Given the description of an element on the screen output the (x, y) to click on. 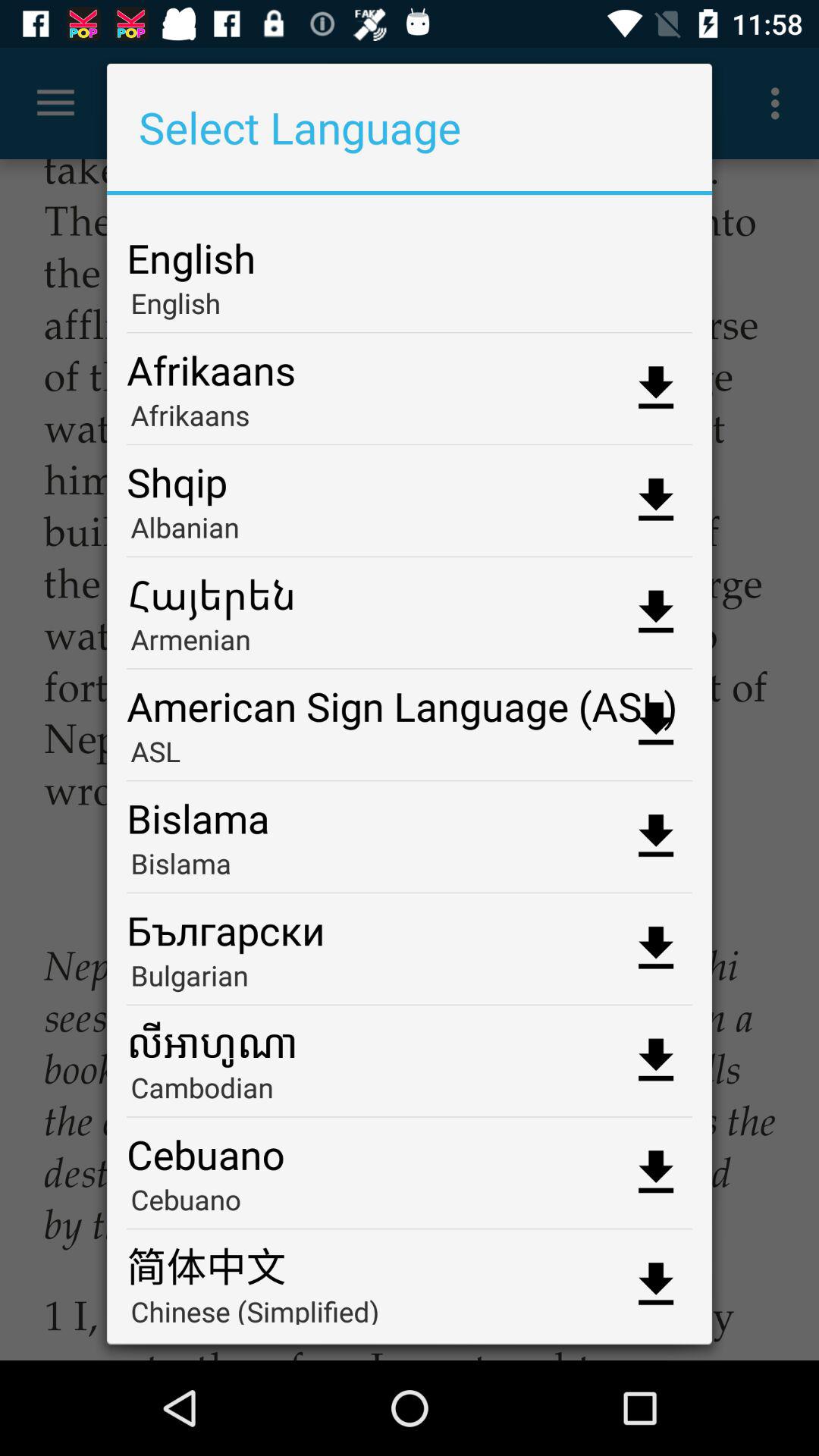
choose the armenian app (409, 644)
